Given the description of an element on the screen output the (x, y) to click on. 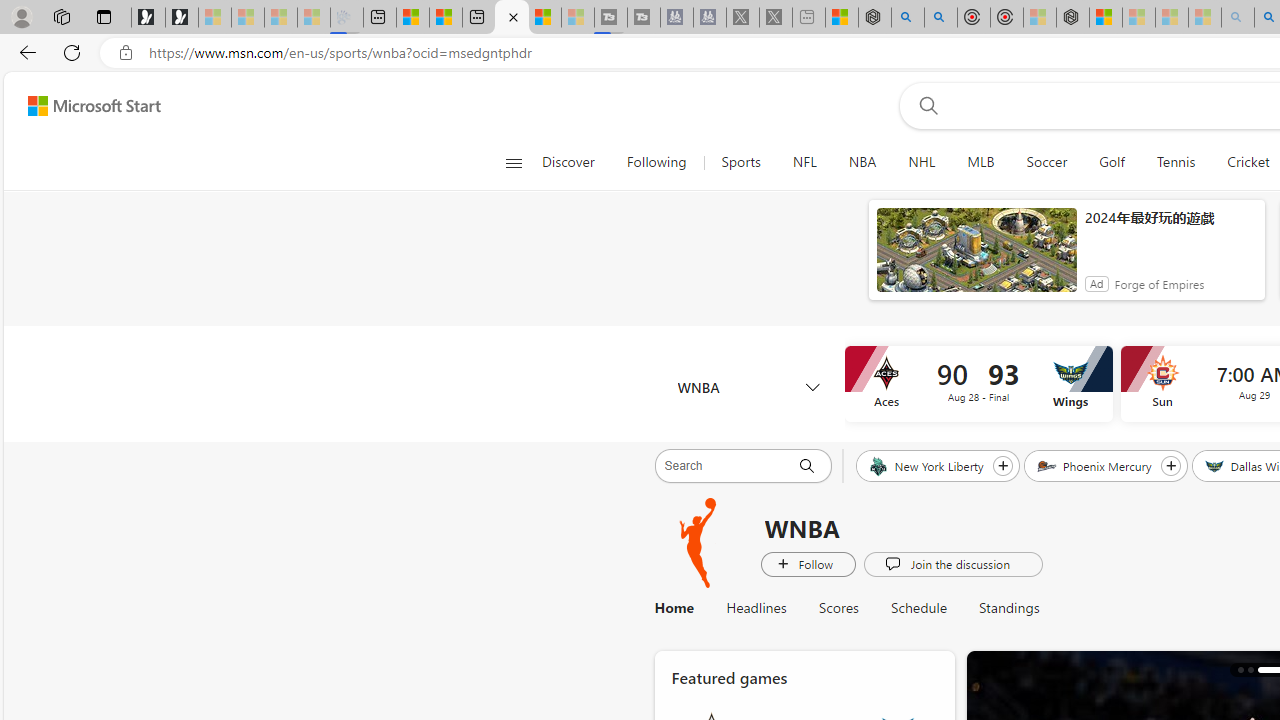
Skip to footer (82, 105)
New York Liberty (927, 465)
WNBA (699, 543)
Cricket (1248, 162)
Headlines (756, 607)
New tab - Sleeping (808, 17)
MLB (980, 162)
Scores (838, 607)
Headlines (756, 607)
